Given the description of an element on the screen output the (x, y) to click on. 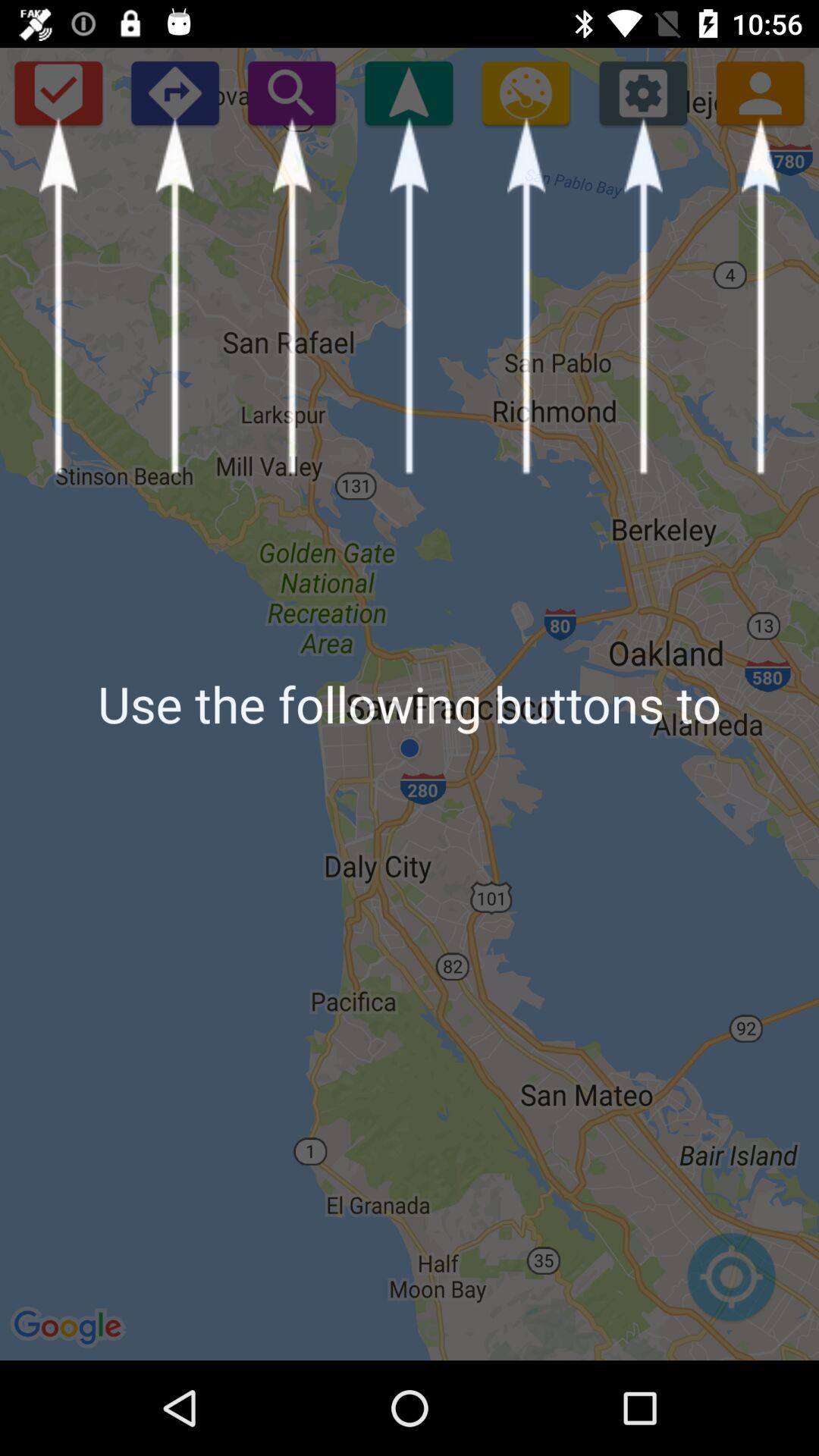
find directions (174, 92)
